Given the description of an element on the screen output the (x, y) to click on. 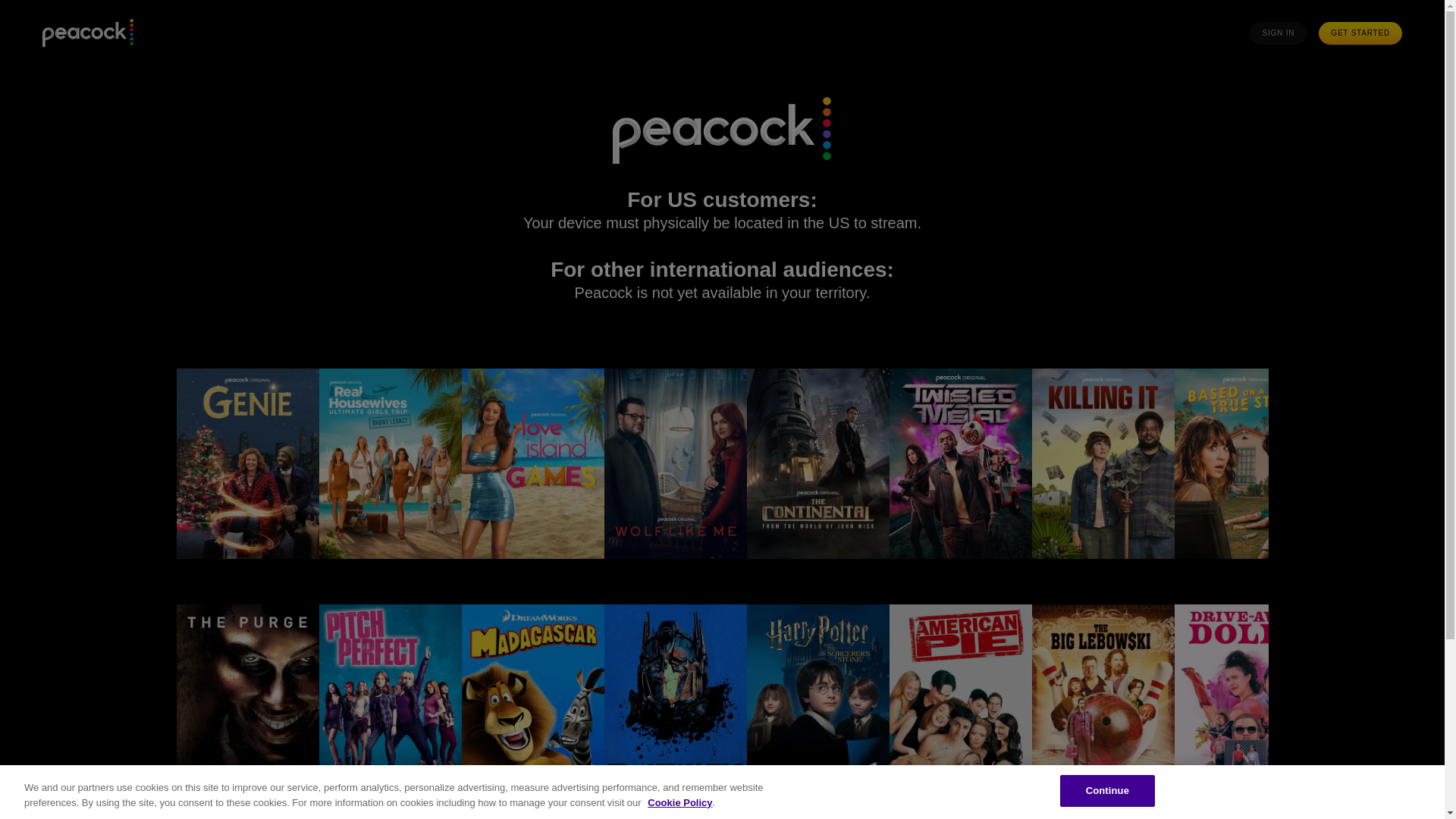
SIGN IN (1277, 33)
GET STARTED (1360, 33)
